Given the description of an element on the screen output the (x, y) to click on. 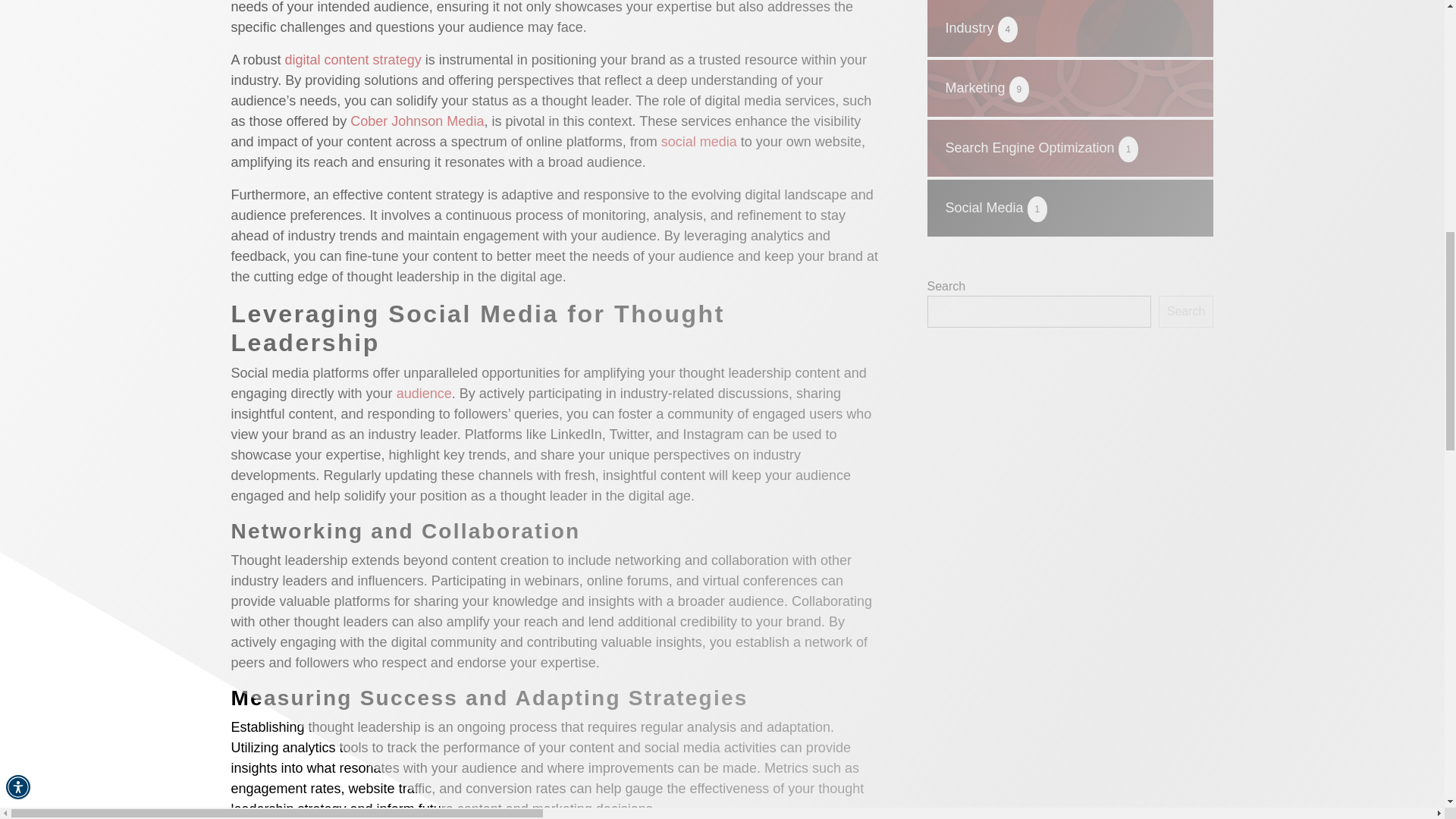
digital content strategy (353, 59)
social media (698, 141)
Cober Johnson Media (416, 120)
audience (423, 393)
